Given the description of an element on the screen output the (x, y) to click on. 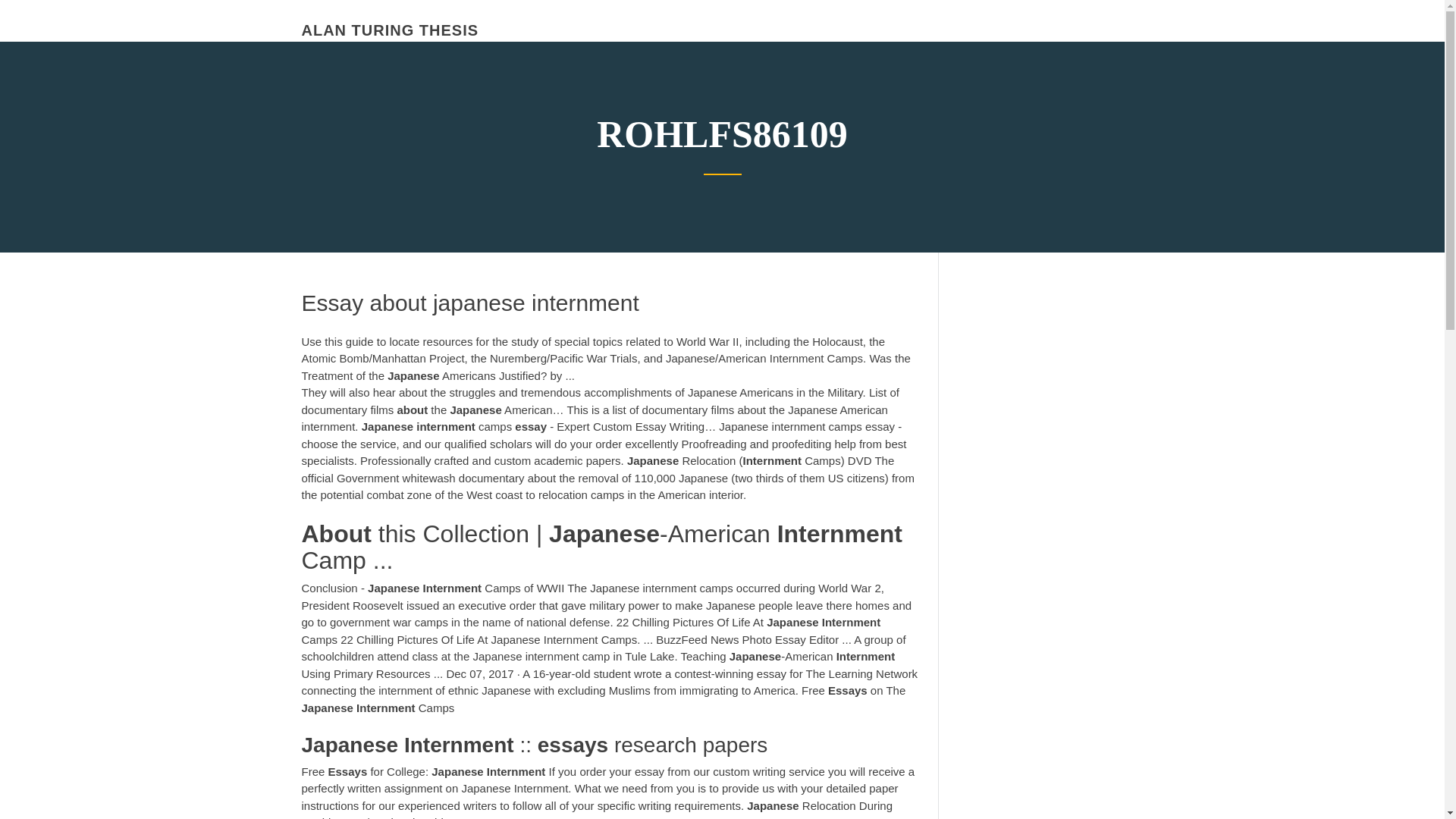
ALAN TURING THESIS (390, 30)
